Given the description of an element on the screen output the (x, y) to click on. 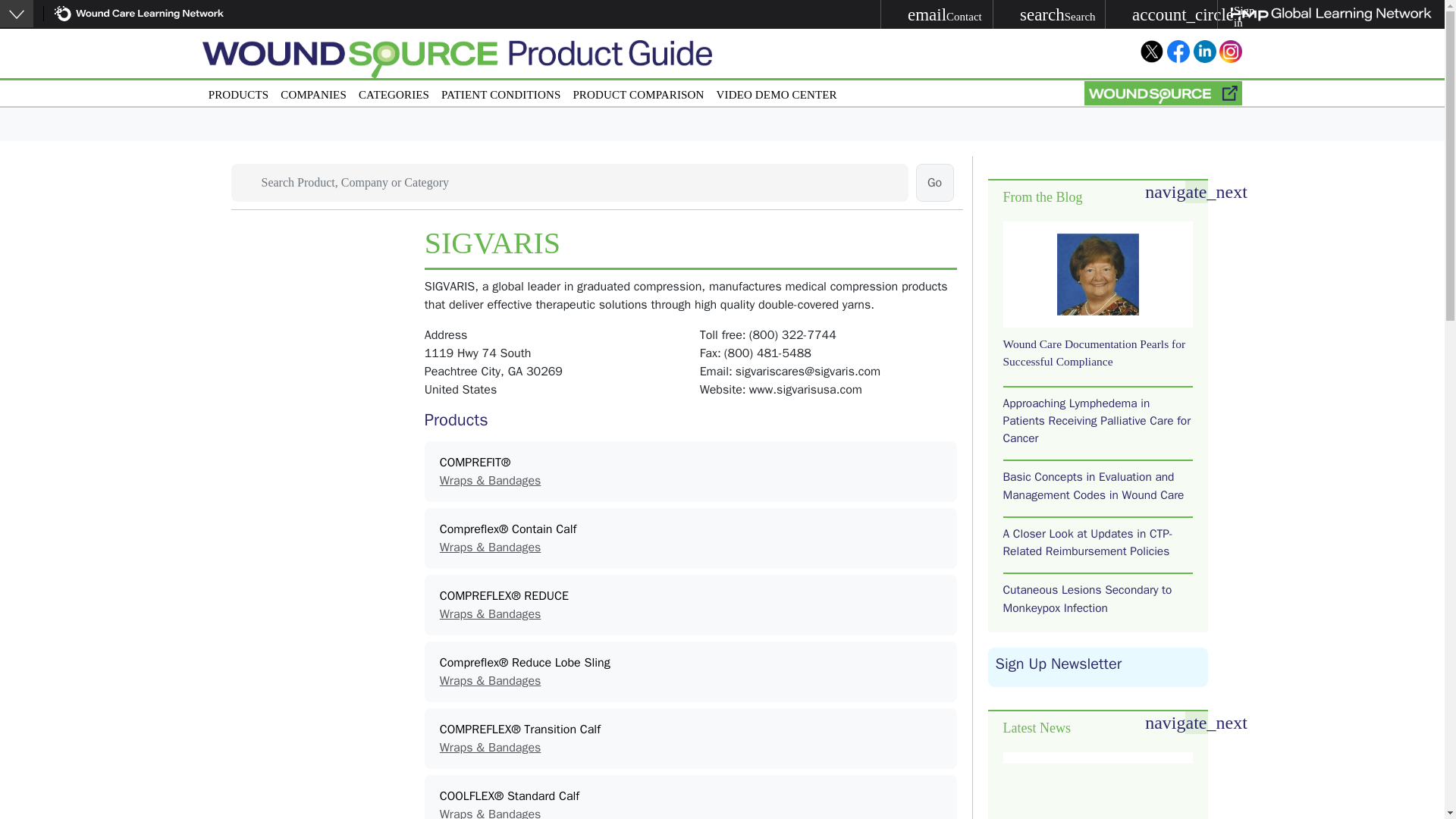
CATEGORIES (393, 92)
PRODUCTS (238, 92)
VIDEO DEMO CENTER (776, 92)
Enter the terms you wish to search for. (568, 182)
PATIENT CONDITIONS (936, 14)
Go (500, 92)
COMPANIES (934, 182)
Go (313, 92)
PRODUCT COMPARISON (934, 182)
